Given the description of an element on the screen output the (x, y) to click on. 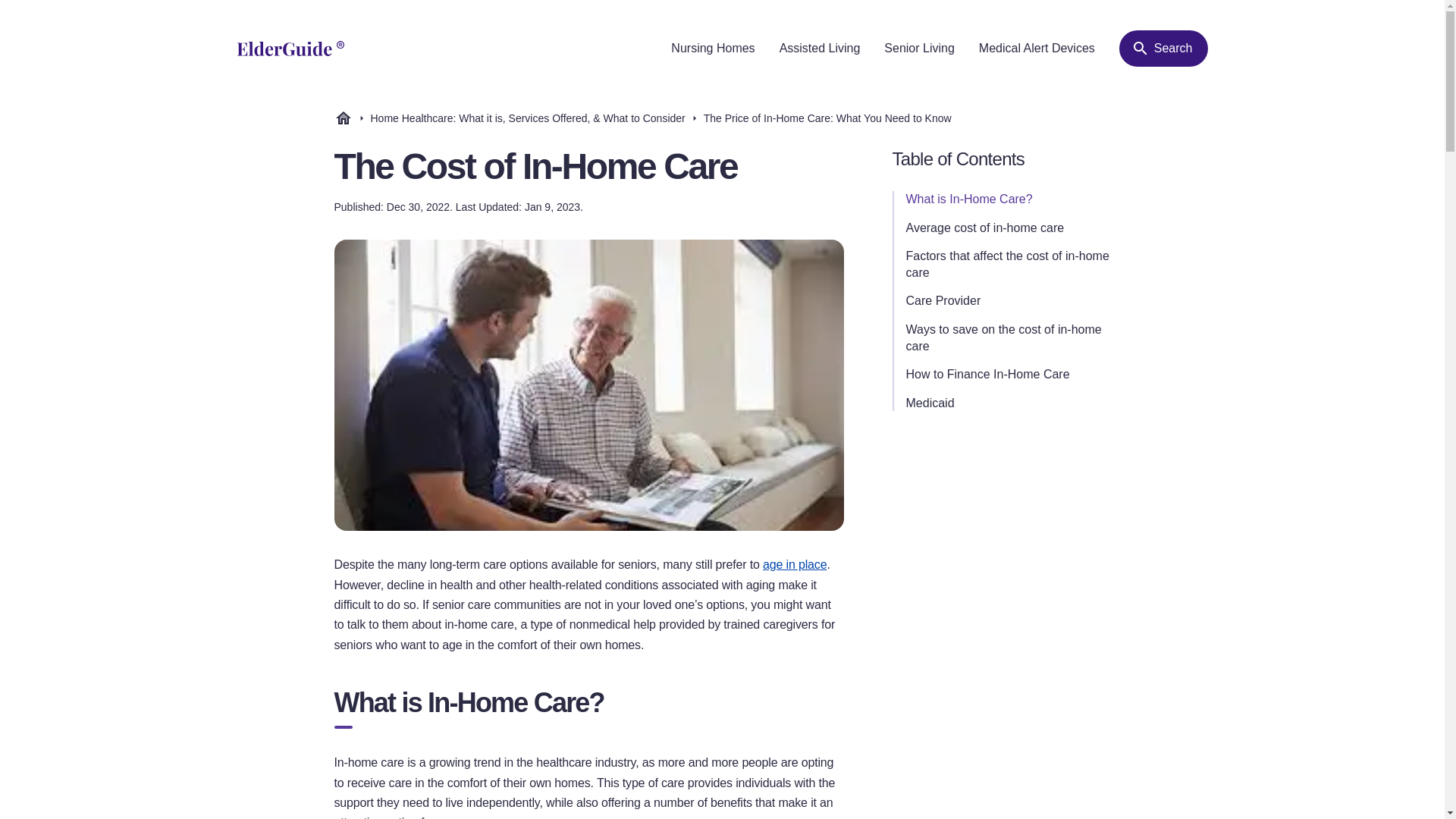
Medical Alert Devices (1036, 47)
Private Pay (938, 374)
Type of care needed (962, 256)
Care Provider (1007, 300)
How to Finance In-Home Care (1007, 374)
age in place (794, 563)
Search (1163, 48)
Veterans Benefits (954, 402)
Assisted Living (819, 47)
Medicaid (1007, 402)
Reverse Mortgages (960, 402)
What is In-Home Care? (1007, 199)
ElderGuide.com (342, 117)
Ways to save on the cost of in-home care (1007, 337)
Factors that affect the cost of in-home care (1007, 264)
